Given the description of an element on the screen output the (x, y) to click on. 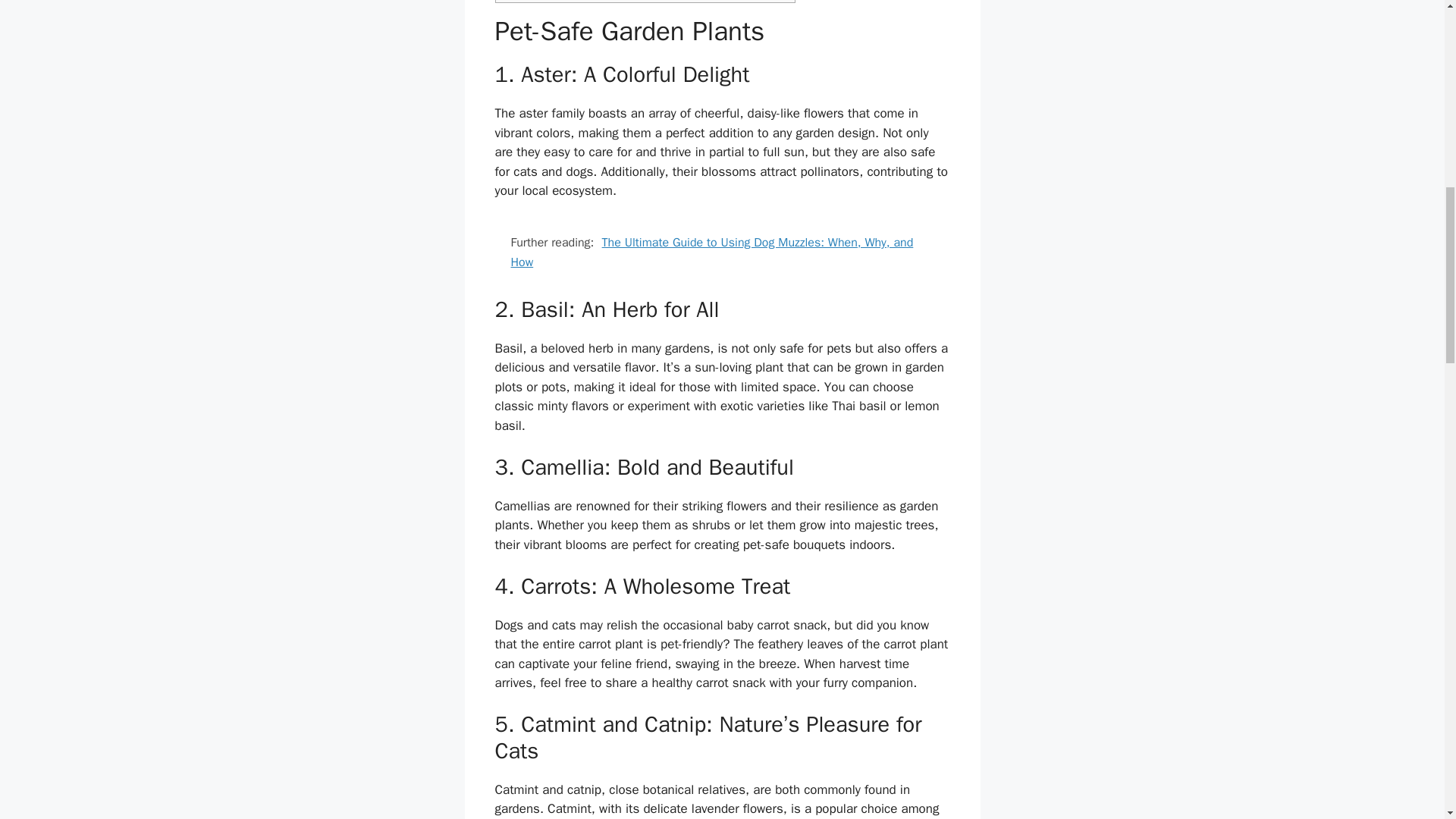
Scroll back to top (1406, 720)
